Given the description of an element on the screen output the (x, y) to click on. 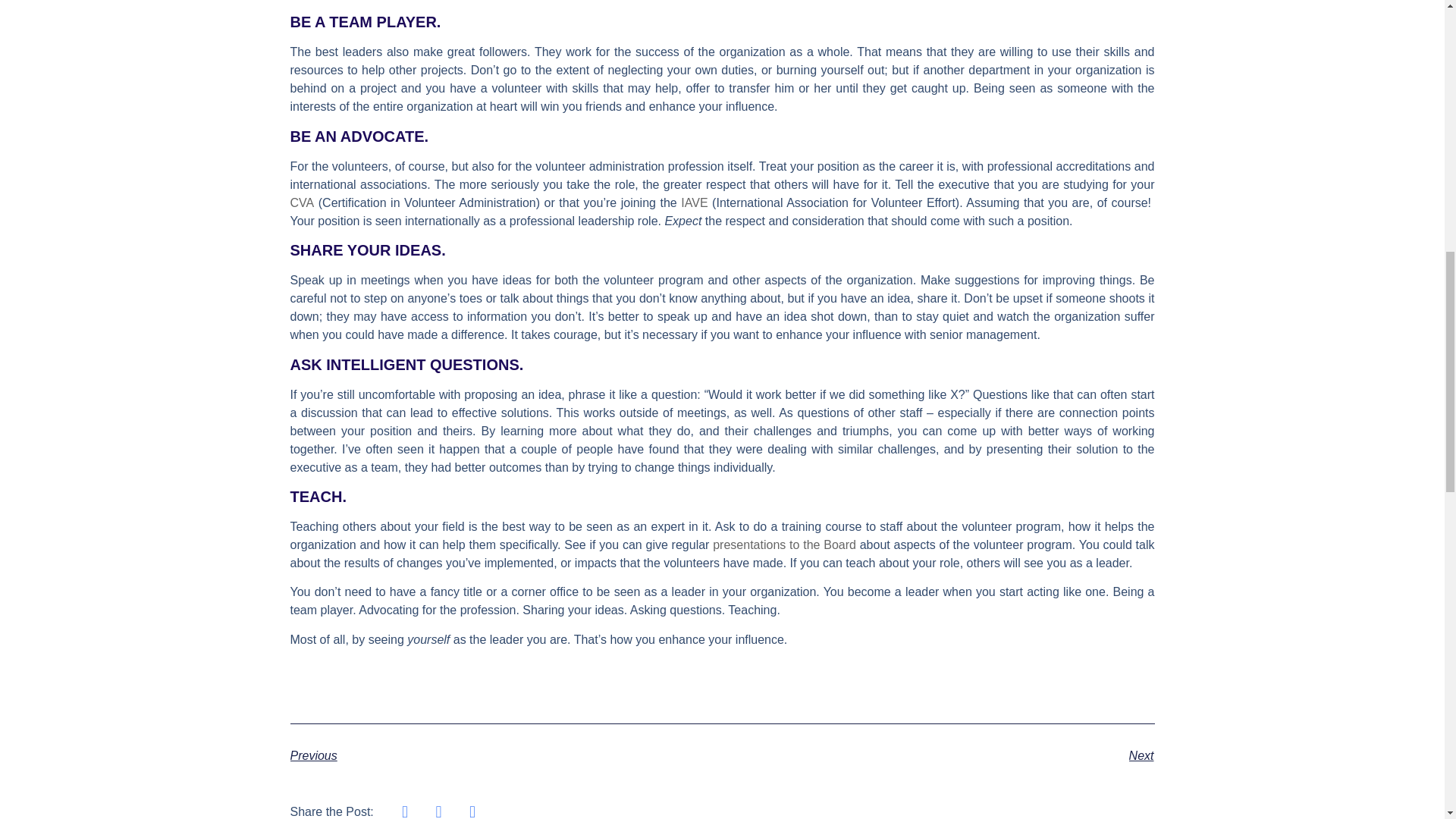
presentations to the Board (784, 544)
Next (938, 755)
CVA (301, 202)
IAVE (694, 202)
Previous (505, 755)
